Given the description of an element on the screen output the (x, y) to click on. 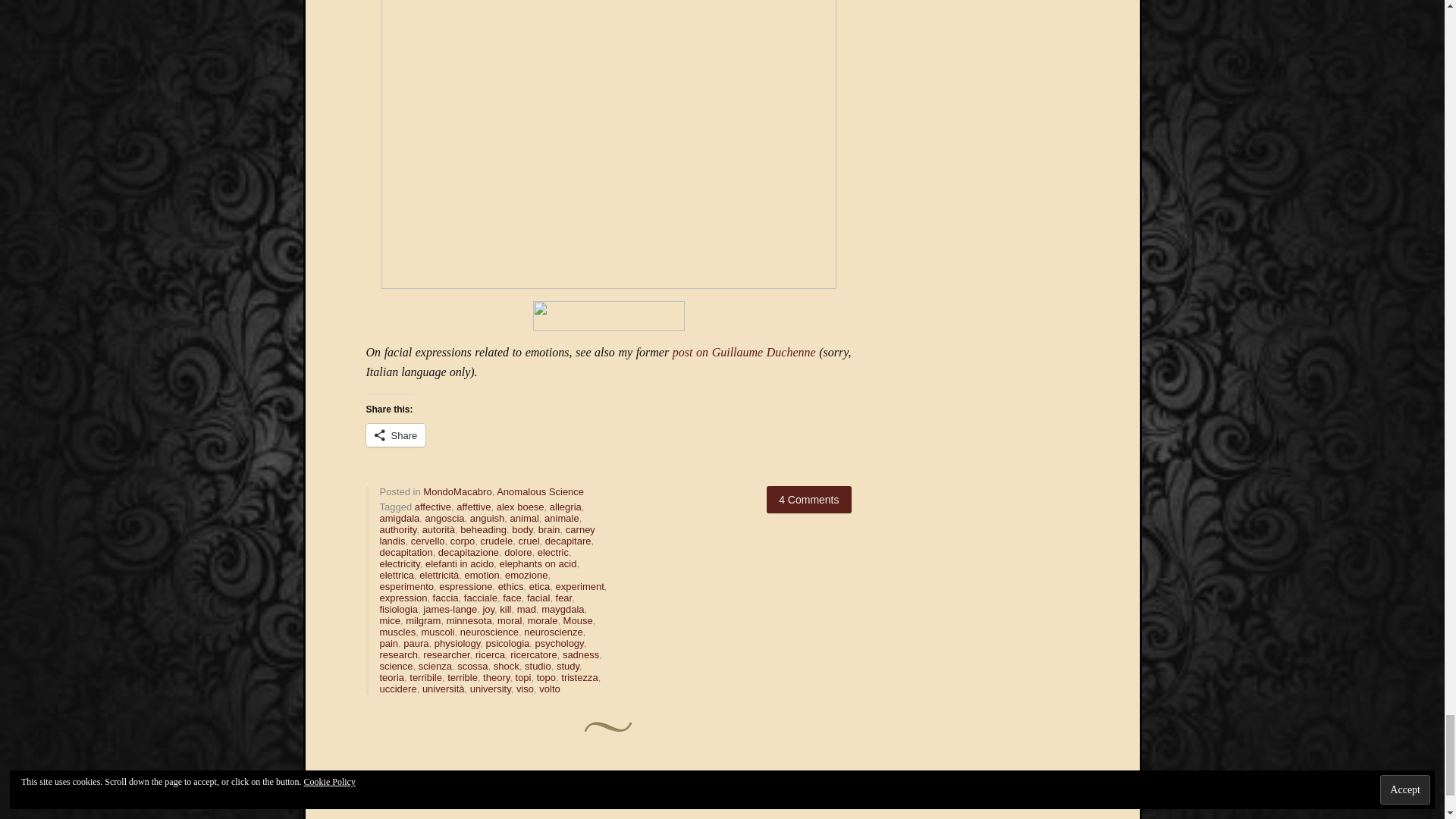
MondoMacabro (457, 491)
post on Guillaume Duchenne (743, 351)
4 Comments (808, 499)
Share (395, 435)
